Given the description of an element on the screen output the (x, y) to click on. 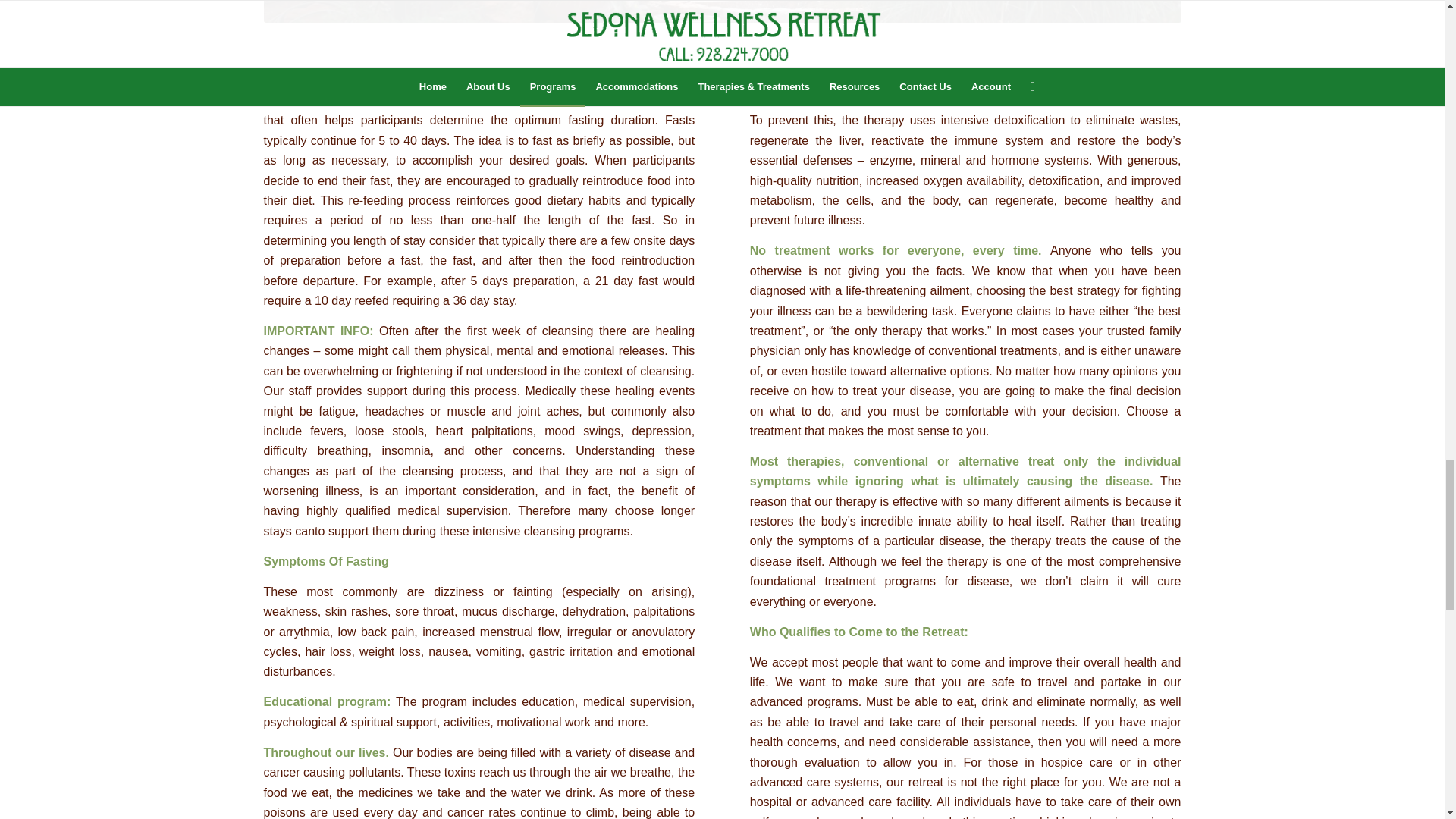
Lodge Gerson plus therapy (721, 11)
